Given the description of an element on the screen output the (x, y) to click on. 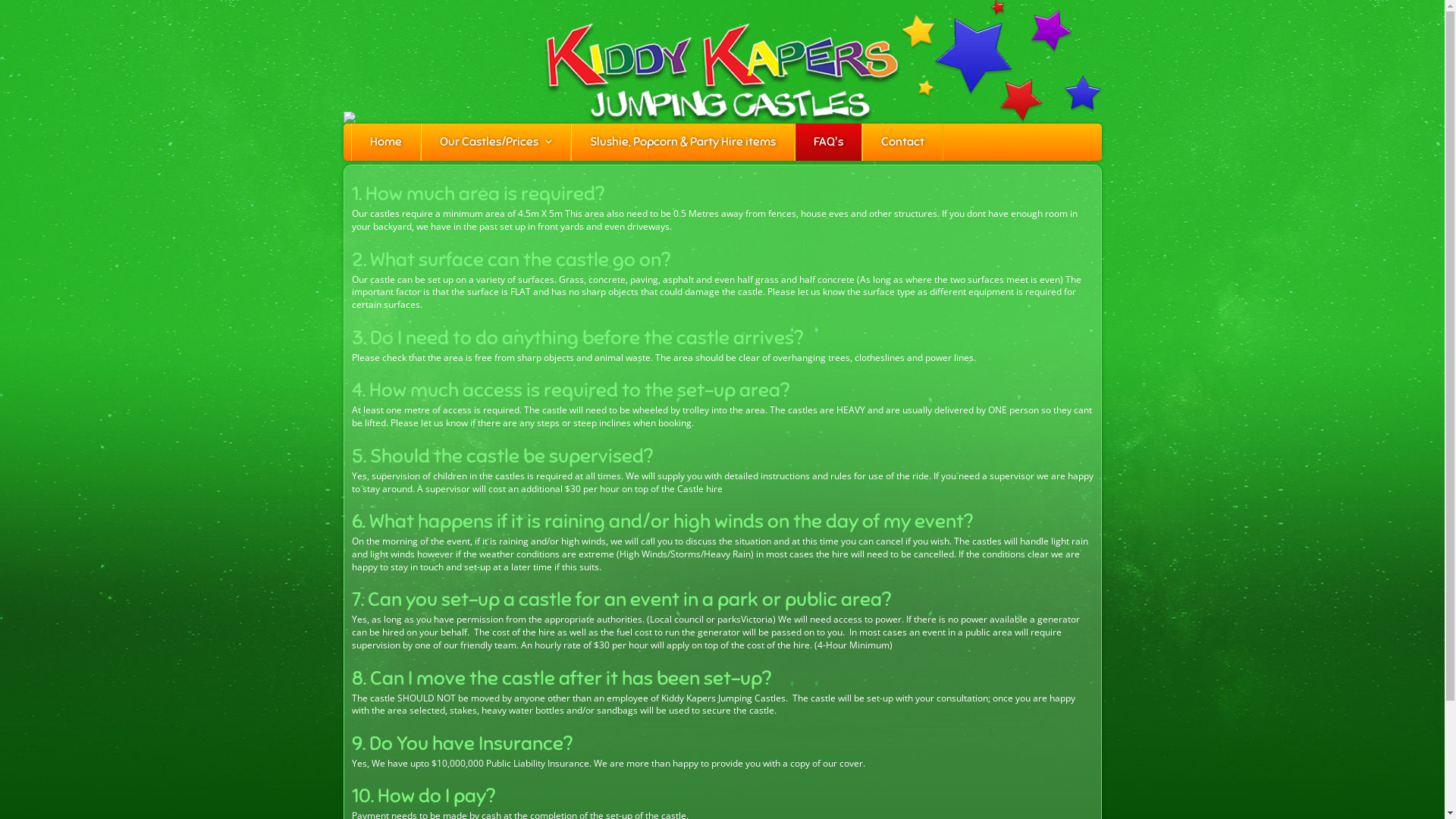
Home Element type: text (385, 141)
Slushie, Popcorn & Party Hire items Element type: text (682, 141)
Contact Element type: text (902, 141)
Our Castles/Prices Element type: text (495, 141)
FAQ's Element type: text (827, 141)
